Given the description of an element on the screen output the (x, y) to click on. 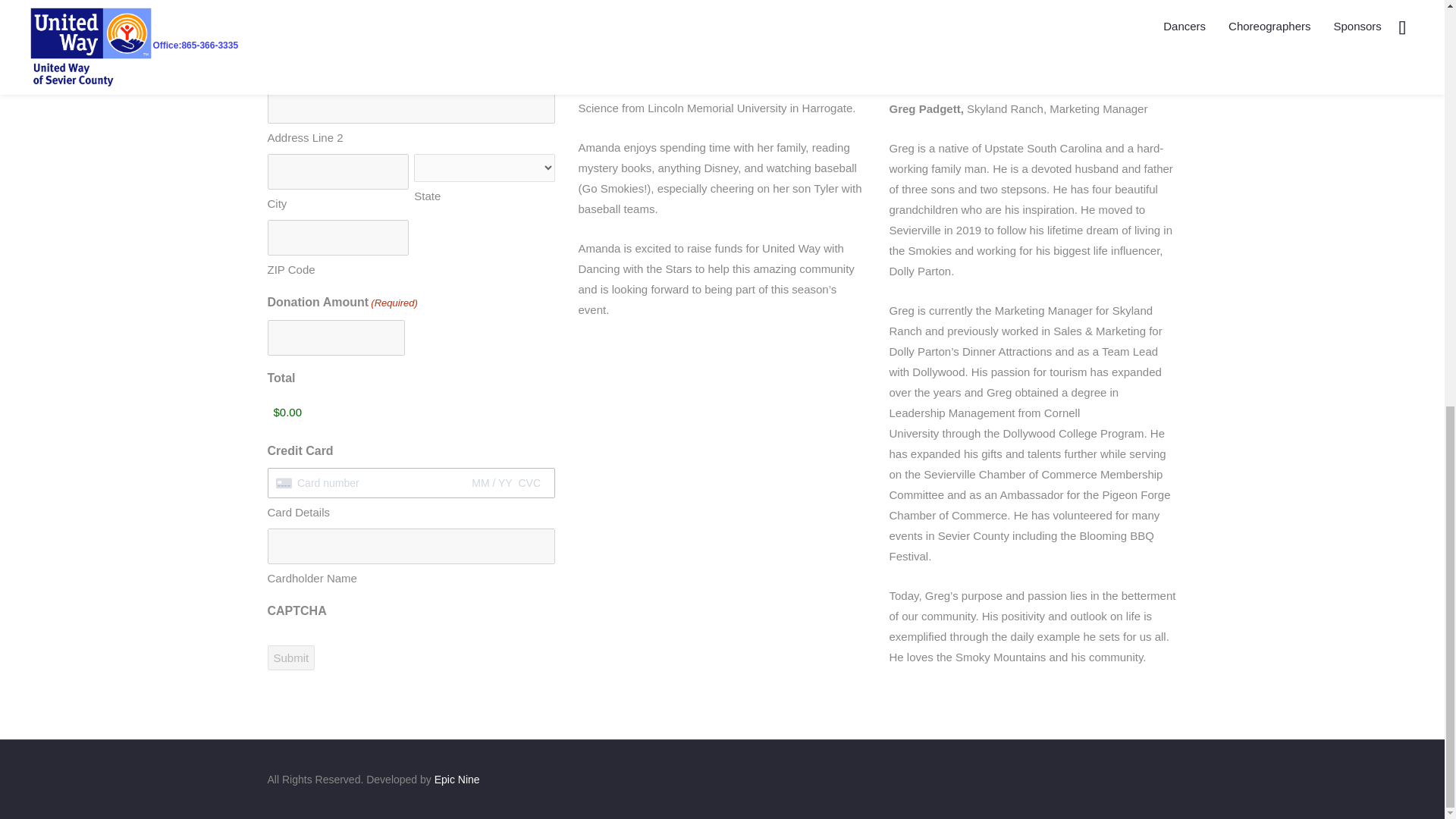
Submit (290, 657)
Epic Nine (456, 779)
Secure card payment input frame (411, 482)
Submit (290, 657)
